Given the description of an element on the screen output the (x, y) to click on. 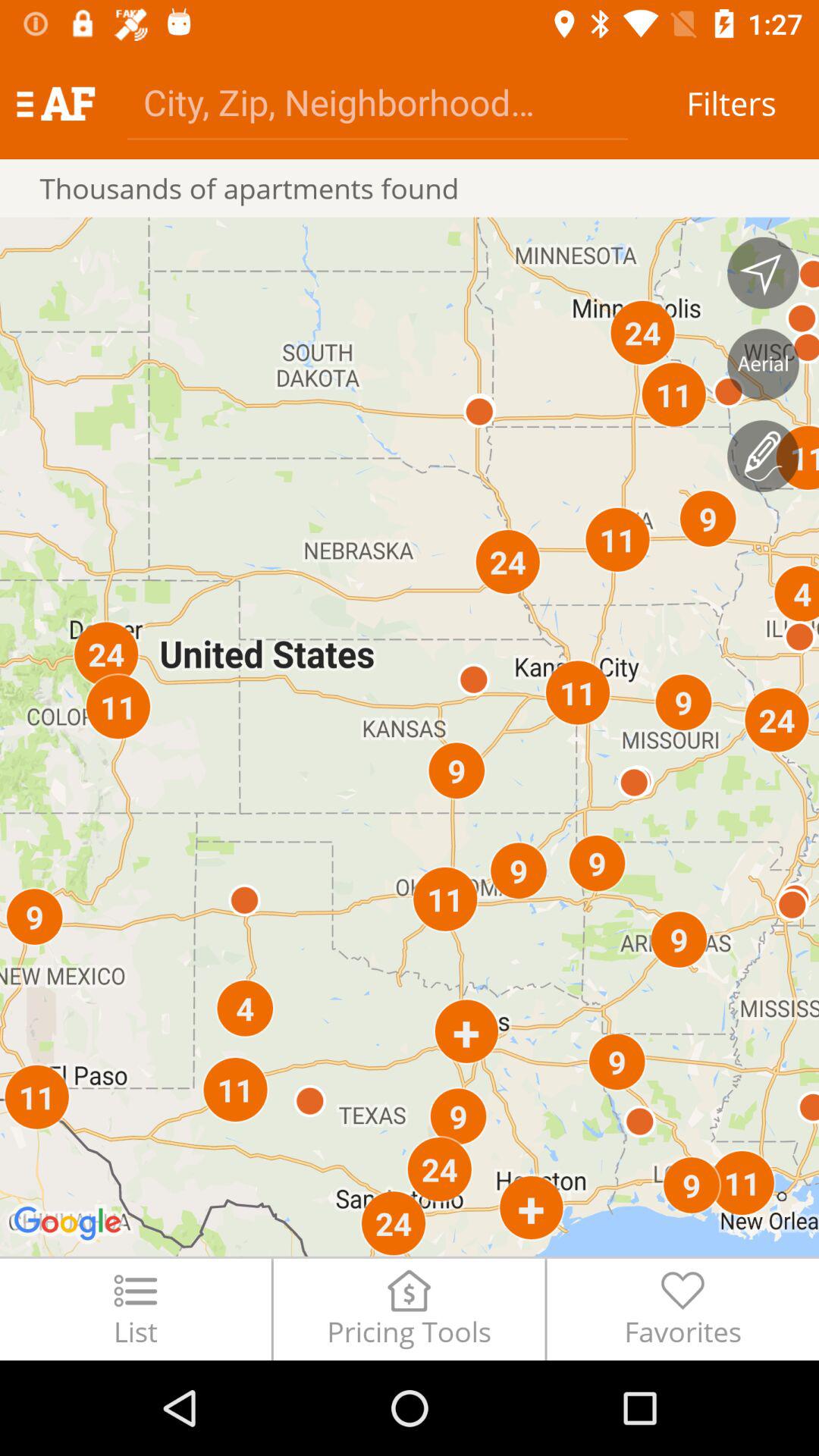
draw a search area (763, 455)
